Given the description of an element on the screen output the (x, y) to click on. 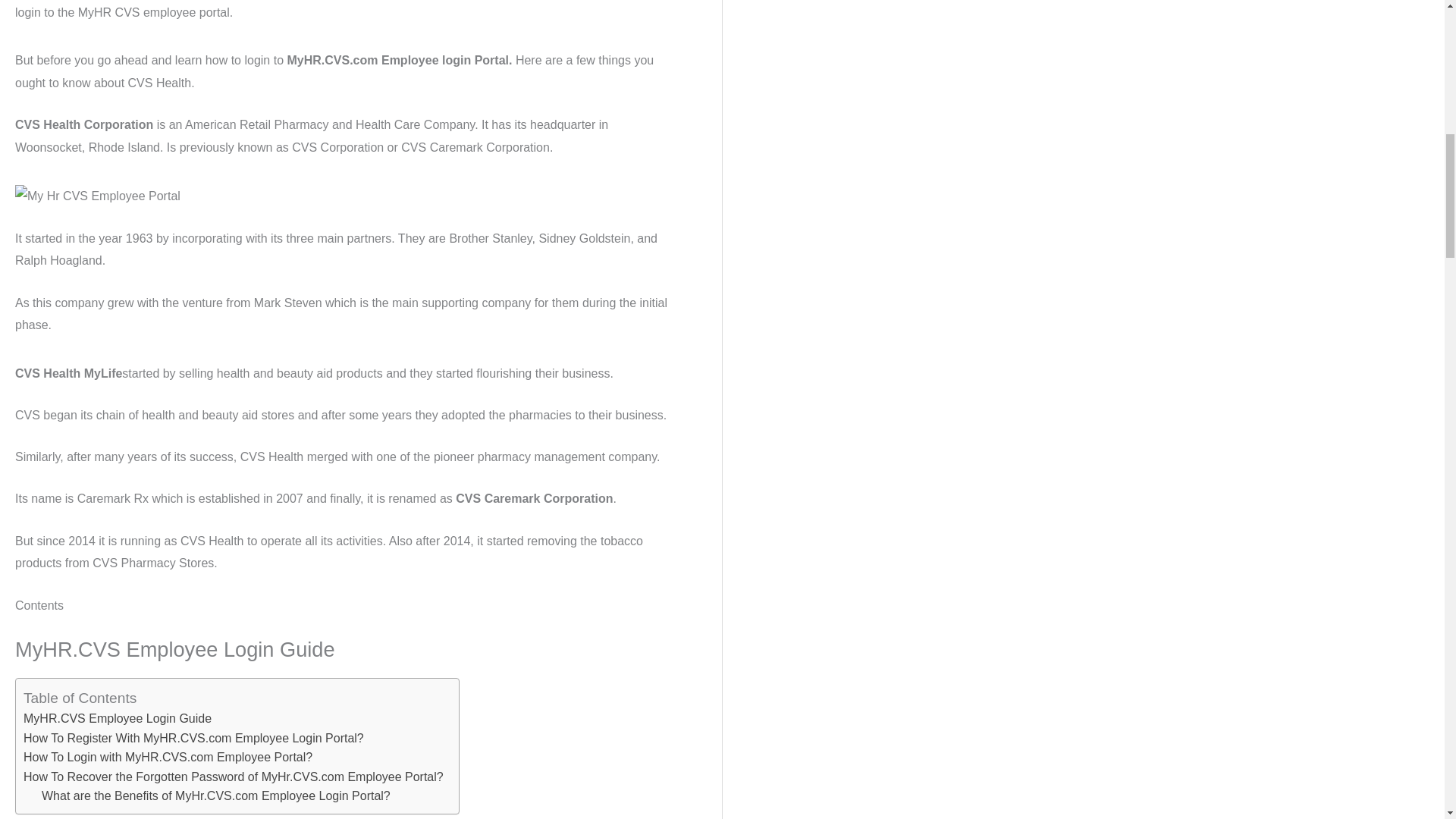
How To Register With MyHR.CVS.com Employee Login Portal? (193, 738)
What are the Benefits of MyHr.CVS.com Employee Login Portal? (216, 795)
How To Login with MyHR.CVS.com Employee Portal? (168, 757)
MyHR.CVS Employee Login Guide (117, 718)
How To Login with MyHR.CVS.com Employee Portal? (168, 757)
How To Register With MyHR.CVS.com Employee Login Portal? (193, 738)
MyHR.CVS Employee Login Guide (117, 718)
What are the Benefits of MyHr.CVS.com Employee Login Portal? (216, 795)
